Given the description of an element on the screen output the (x, y) to click on. 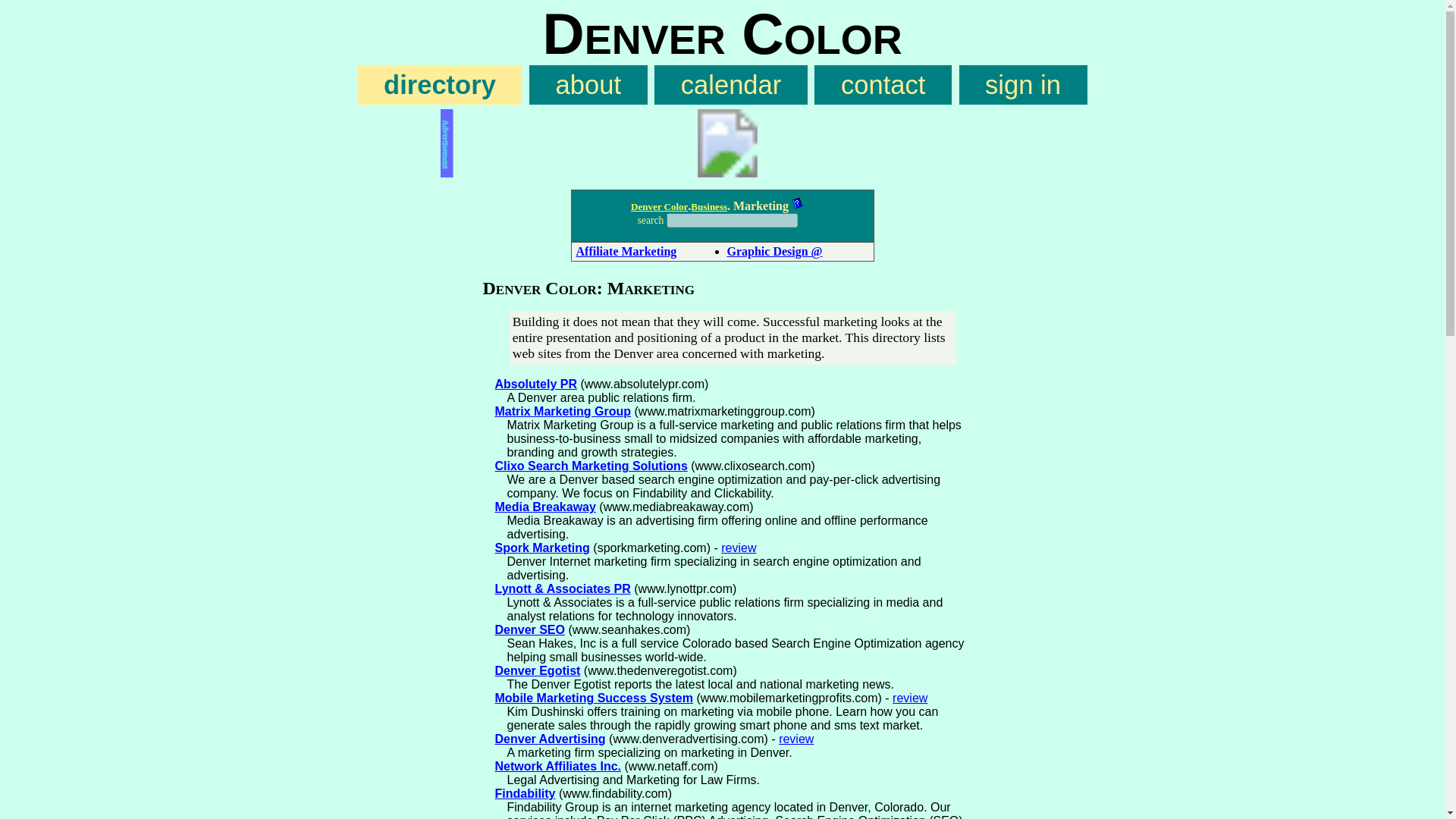
Advertisement (721, 142)
review (795, 738)
Clixo Search Marketing Solutions (591, 465)
about (588, 84)
Mobile Marketing Success System (594, 697)
Affiliate Marketing (626, 250)
Matrix Marketing Group (562, 410)
Absolutely PR (535, 383)
review (909, 697)
Business (708, 206)
Spork Marketing (542, 547)
Findability (524, 793)
Network Affiliates Inc. (558, 766)
contact (881, 84)
Denver Egotist (537, 670)
